Given the description of an element on the screen output the (x, y) to click on. 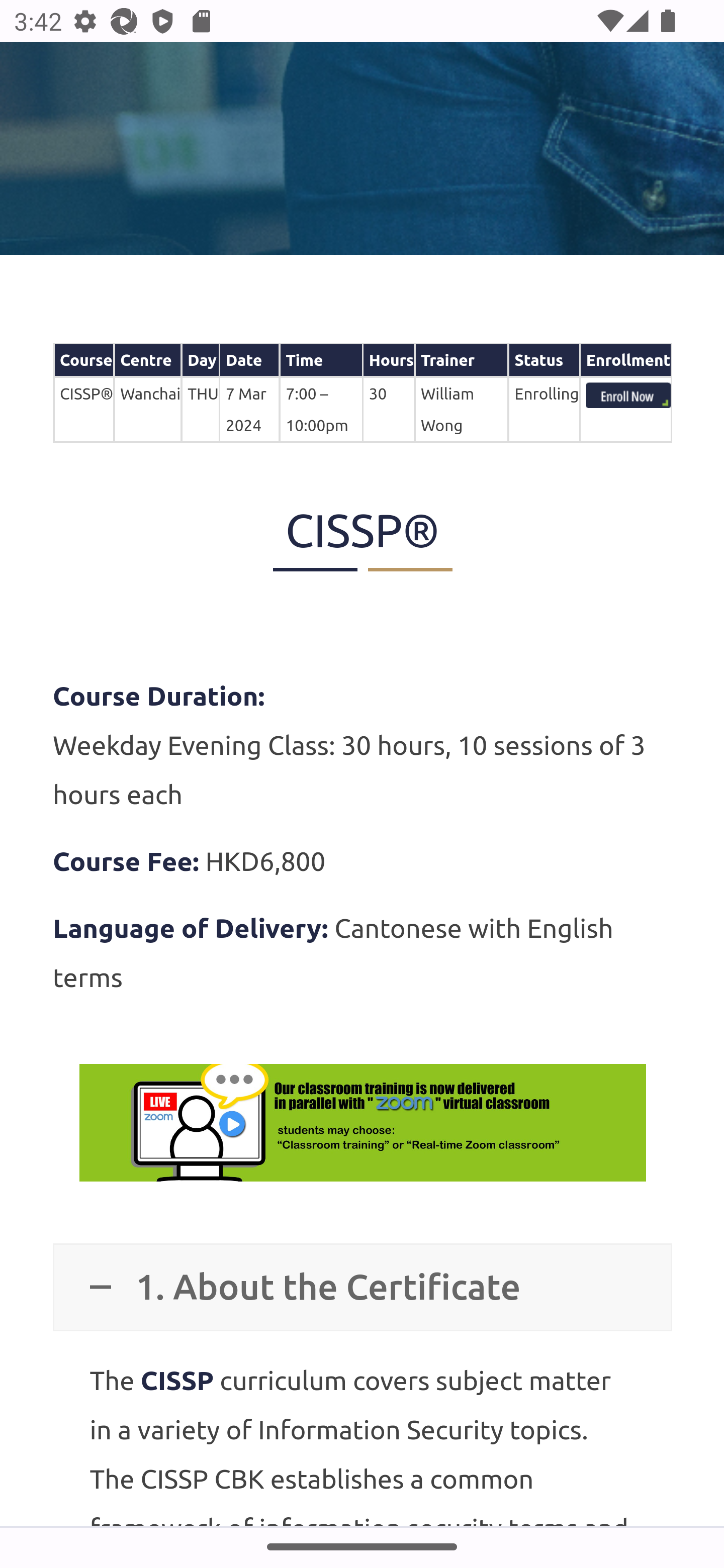
index (627, 397)
